Given the description of an element on the screen output the (x, y) to click on. 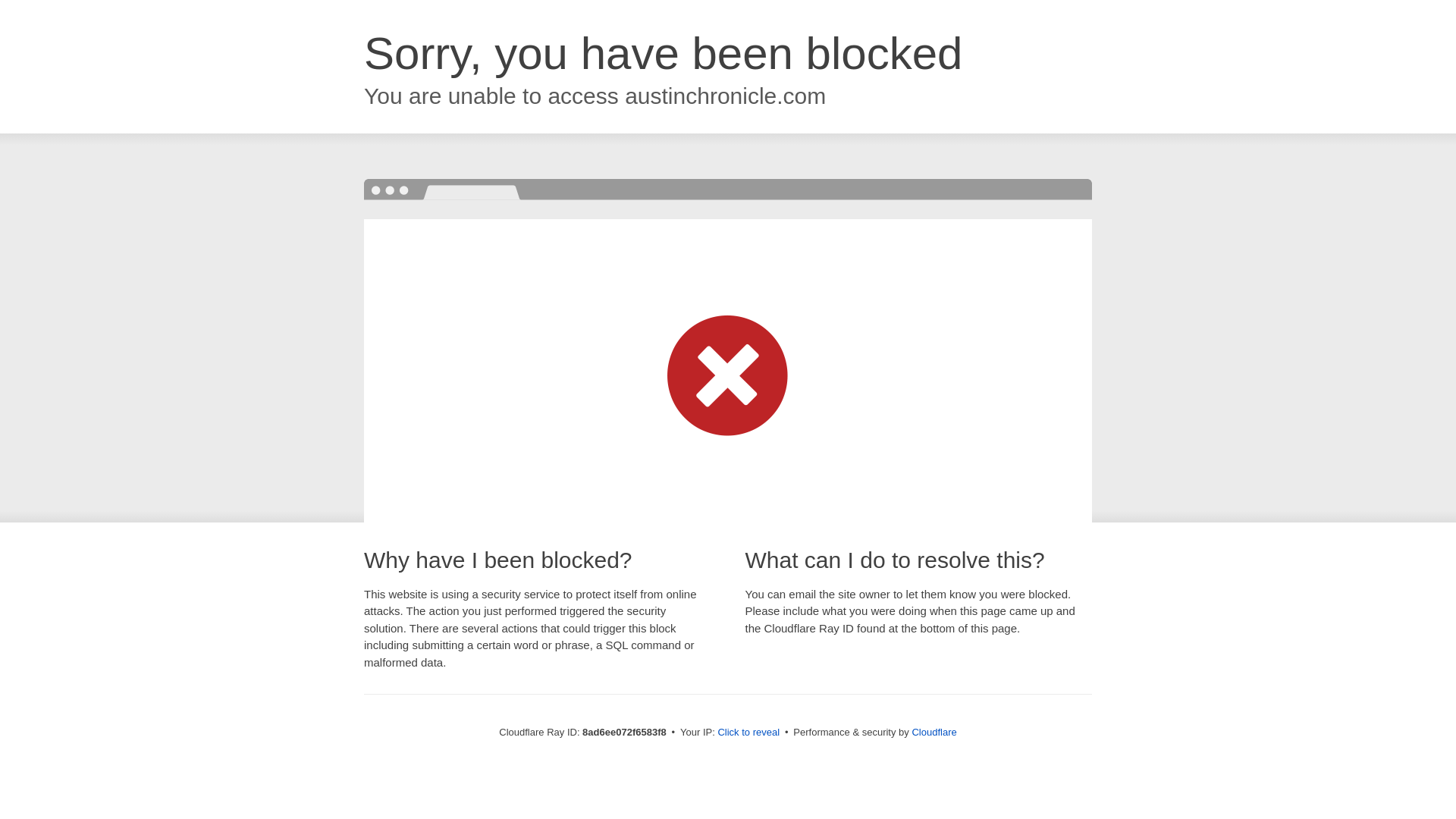
Cloudflare (933, 731)
Click to reveal (747, 732)
